Given the description of an element on the screen output the (x, y) to click on. 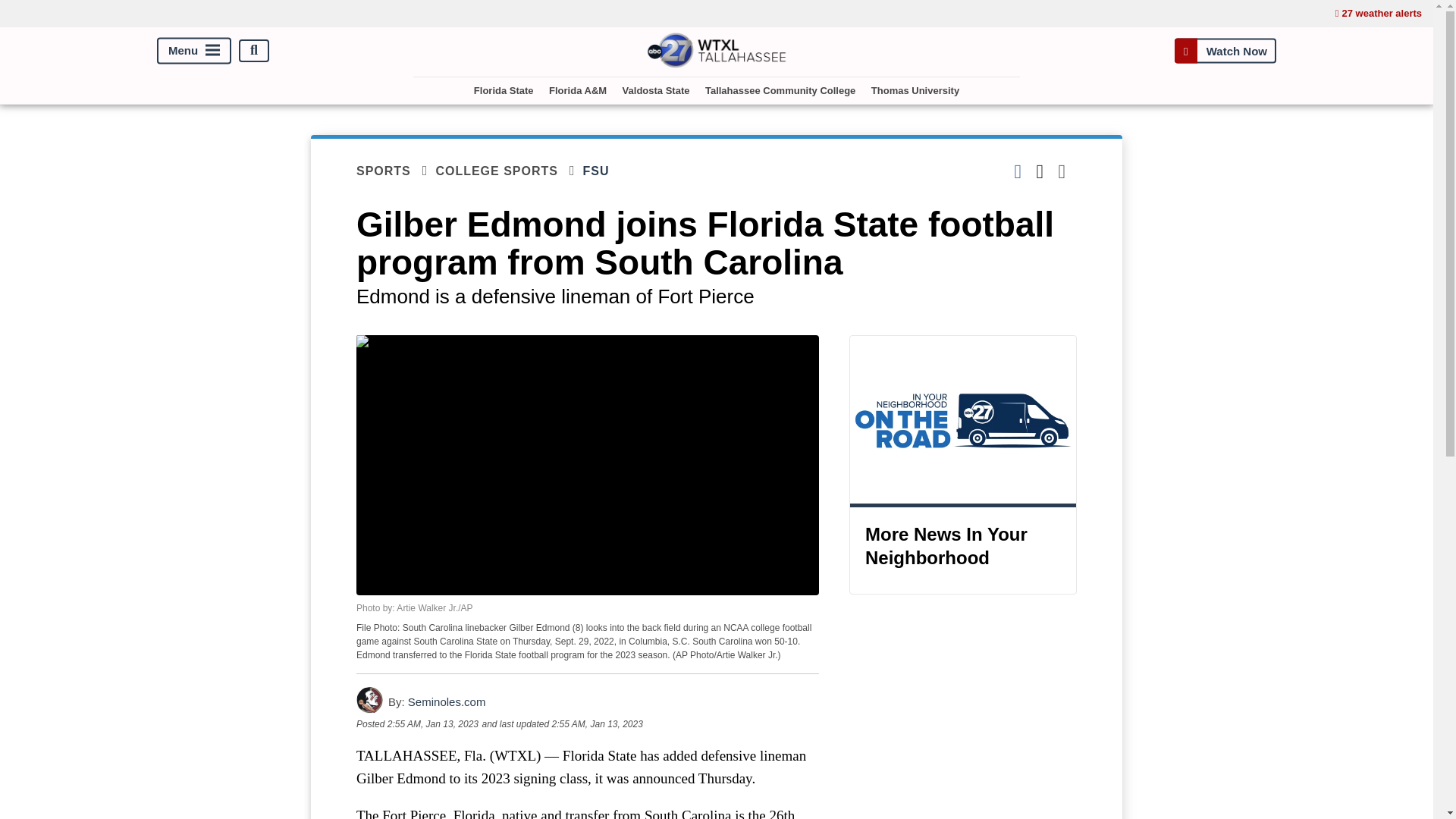
Menu (194, 49)
Watch Now (1224, 50)
